Given the description of an element on the screen output the (x, y) to click on. 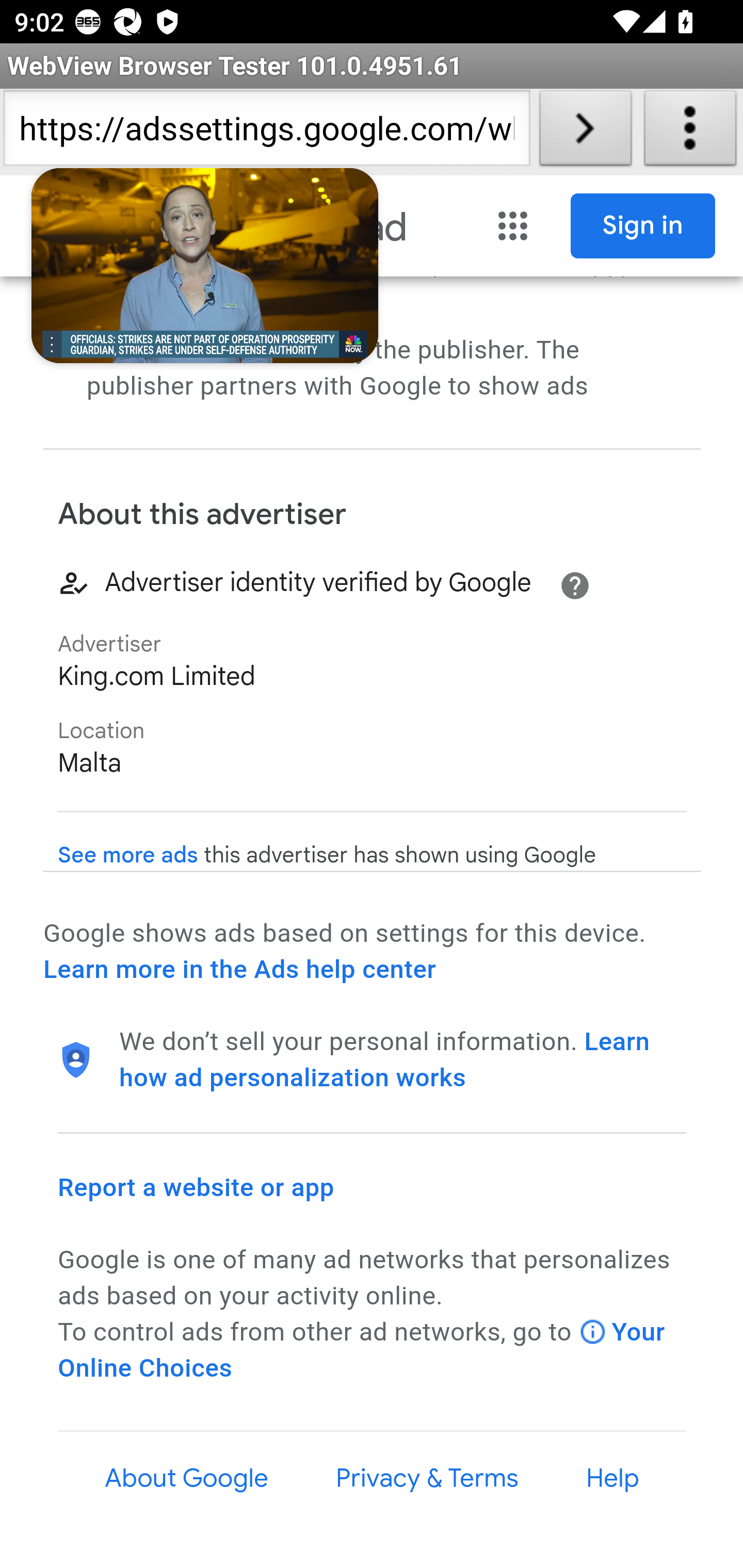
https://adssettings.google.com/whythisad (266, 132)
Load URL (585, 132)
About WebView (690, 132)
Google apps (513, 226)
Sign in (643, 226)
See more ads (opens in new tab) See more ads (127, 856)
Learn more in the Ads help center (239, 969)
Learn how ad personalization works (384, 1059)
Report a website or app (196, 1187)
Your Online Choices (361, 1349)
About Google (186, 1478)
Privacy & Terms (426, 1478)
Help (612, 1478)
